Given the description of an element on the screen output the (x, y) to click on. 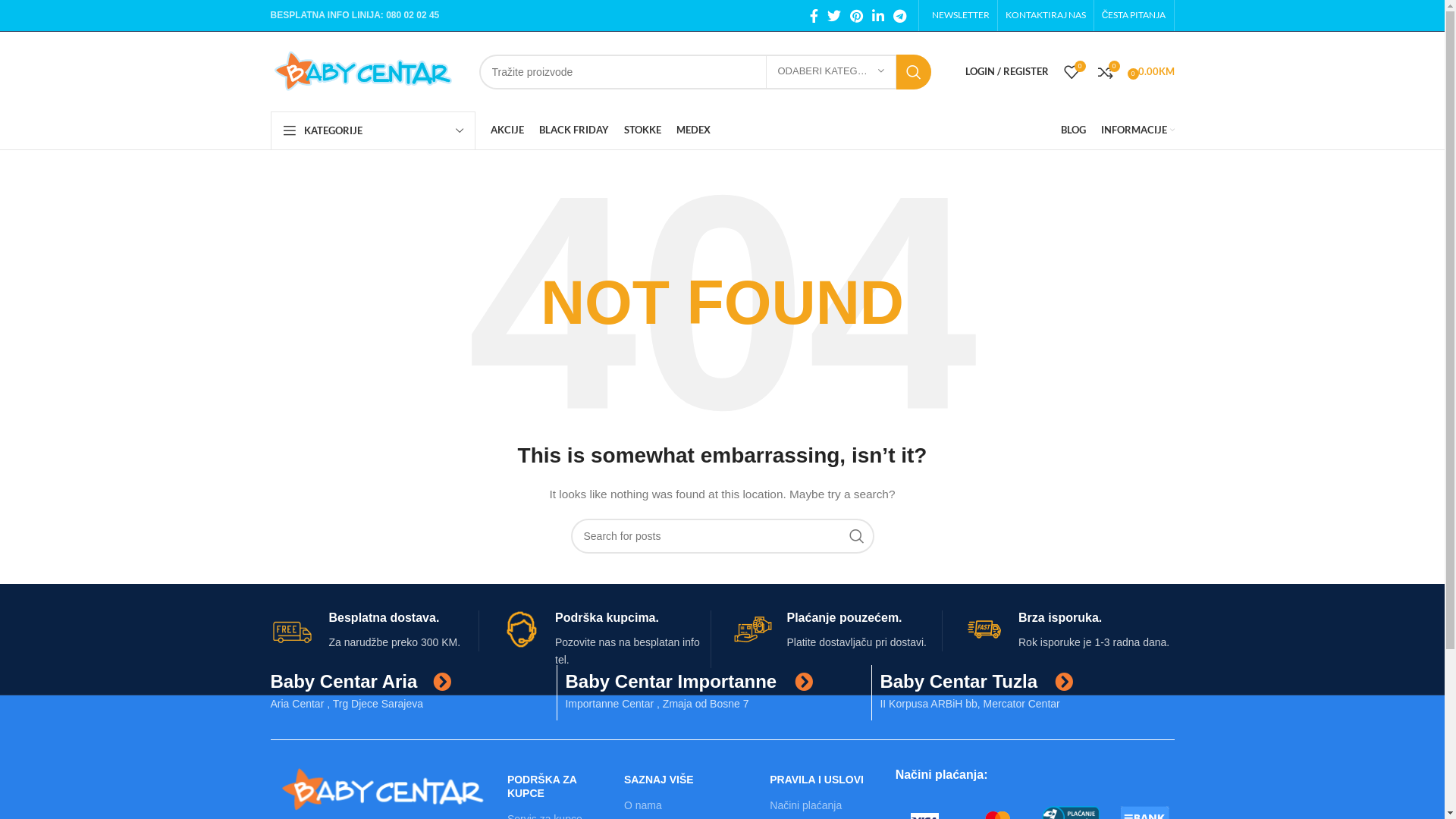
Baby Centar Tuzla Element type: text (958, 681)
O nama Element type: text (689, 805)
MEDEX Element type: text (693, 130)
Baby Centar Importanne Element type: text (670, 681)
LOGIN / REGISTER Element type: text (1006, 71)
KONTAKTIRAJ NAS Element type: text (1045, 15)
0 stavke
0.00KM Element type: text (1152, 71)
NEWSLETTER Element type: text (957, 15)
AKCIJE Element type: text (506, 130)
BLOG Element type: text (1072, 130)
0 Element type: text (1105, 71)
0 Element type: text (1070, 71)
INFORMACIJE Element type: text (1137, 130)
PRAVILA I USLOVI Element type: text (824, 779)
STOKKE Element type: text (641, 130)
Baby Centar Aria Element type: text (343, 681)
BLACK FRIDAY Element type: text (573, 130)
Search for posts Element type: hover (721, 535)
Brza isporuka.
Rok isporuke je 1-3 radna dana. Element type: text (1069, 630)
ODABERI KATEGORIJU Element type: text (830, 71)
